Given the description of an element on the screen output the (x, y) to click on. 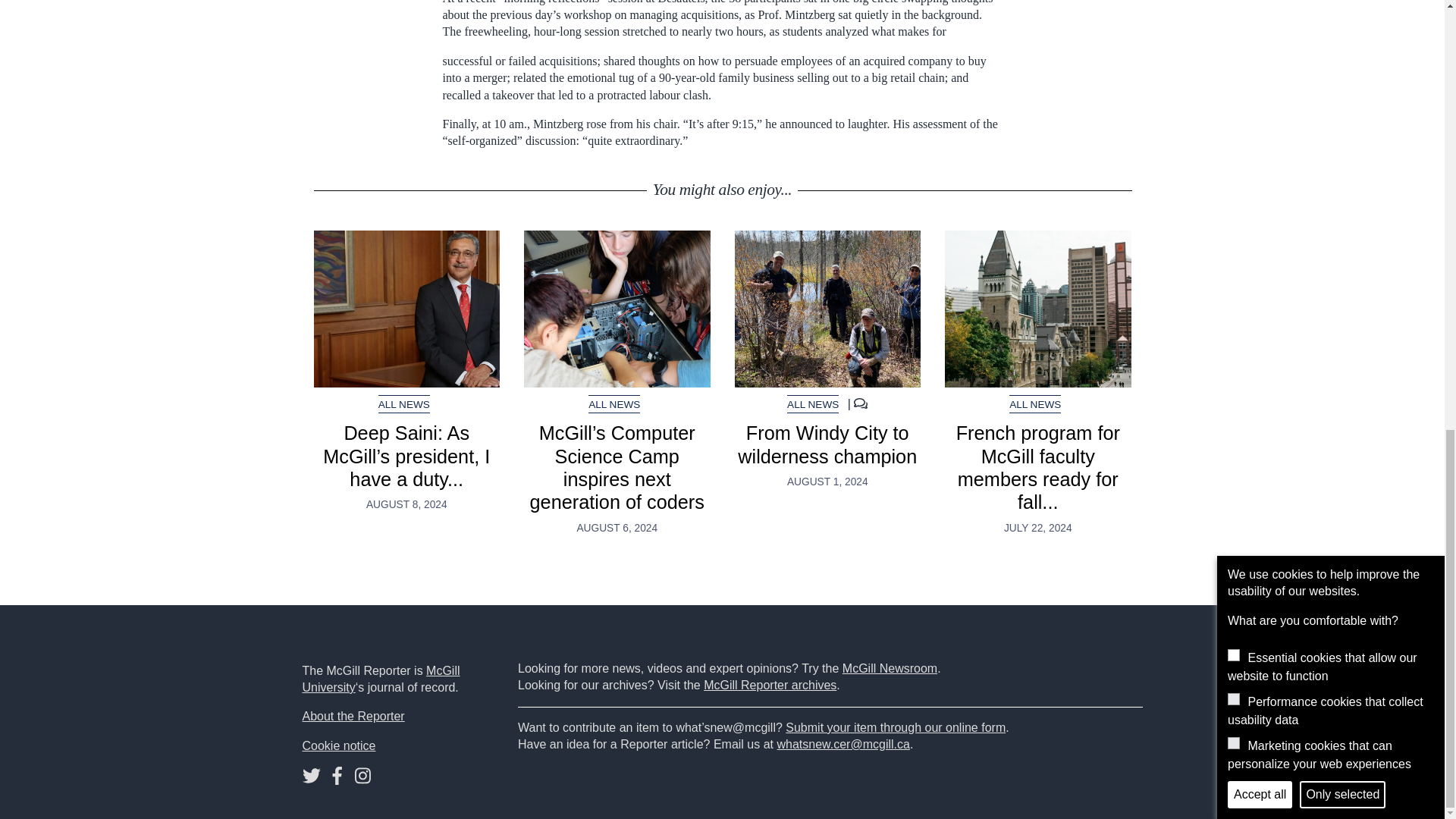
ALL NEWS (1035, 404)
ALL NEWS (812, 404)
About the Reporter (352, 716)
Follow us on Instagram (363, 778)
French program for McGill faculty members ready for fall... (1037, 467)
From Windy City to wilderness champion (826, 308)
Follow us on X (310, 778)
ALL NEWS (403, 404)
McGill University (380, 678)
